Given the description of an element on the screen output the (x, y) to click on. 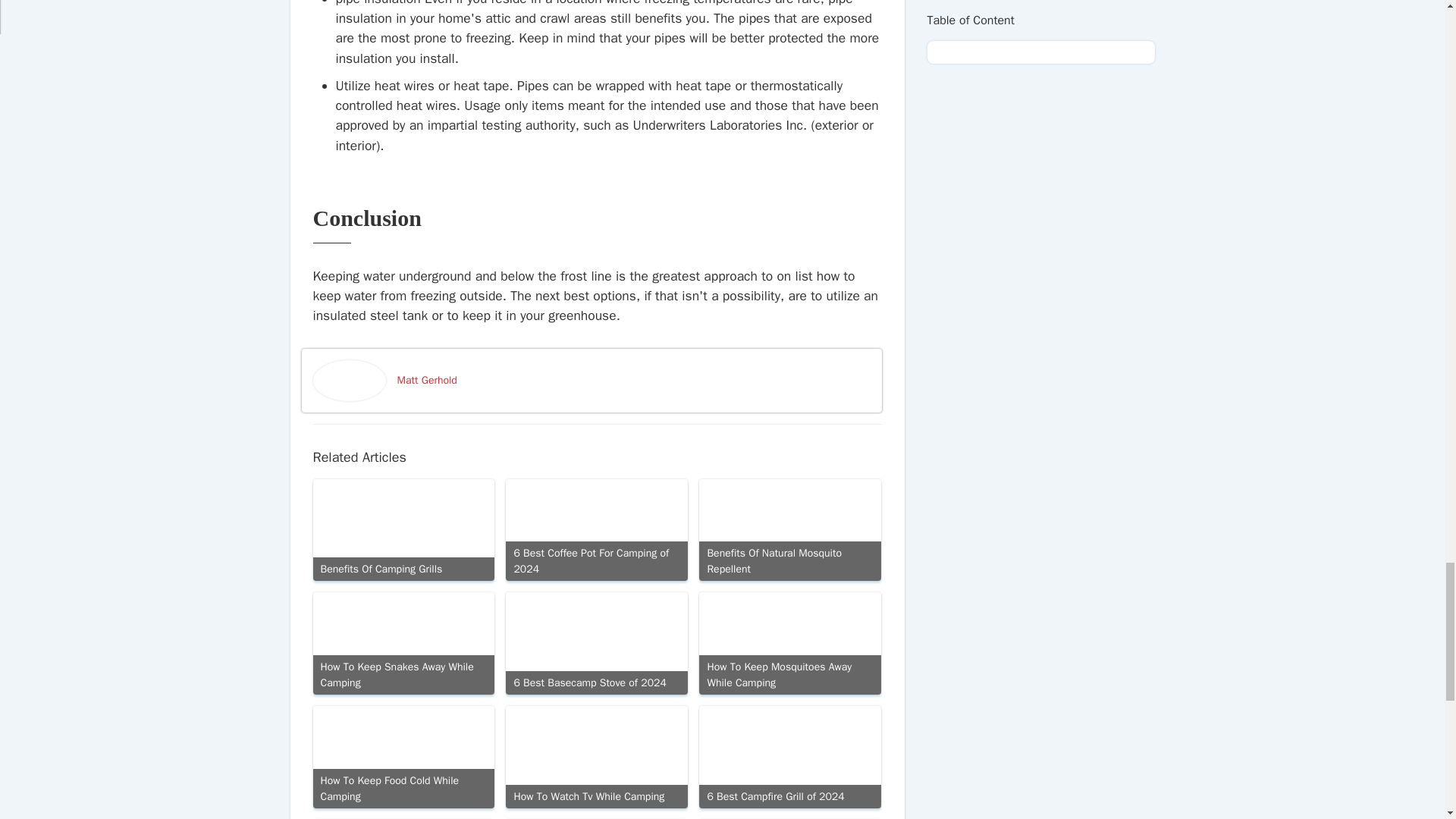
Matt Gerhold (633, 380)
Benefits Of Camping Grills (404, 530)
How To Watch Tv While Camping (596, 756)
6 Best Campfire Grill of 2024 (789, 756)
How To Keep Mosquitoes Away While Camping (789, 643)
How To Keep Food Cold While Camping (404, 756)
6 Best Coffee Pot For Camping of 2024 (596, 530)
How To Keep Food Cold While Camping (404, 756)
Matt Gerhold (633, 380)
Benefits Of Natural Mosquito Repellent (789, 530)
How To Keep Snakes Away While Camping (404, 643)
6 Best Coffee Pot For Camping of 2024 (596, 530)
Benefits Of Natural Mosquito Repellent (789, 530)
6 Best Basecamp Stove of 2024 (596, 643)
6 Best Basecamp Stove of 2024 (596, 643)
